Given the description of an element on the screen output the (x, y) to click on. 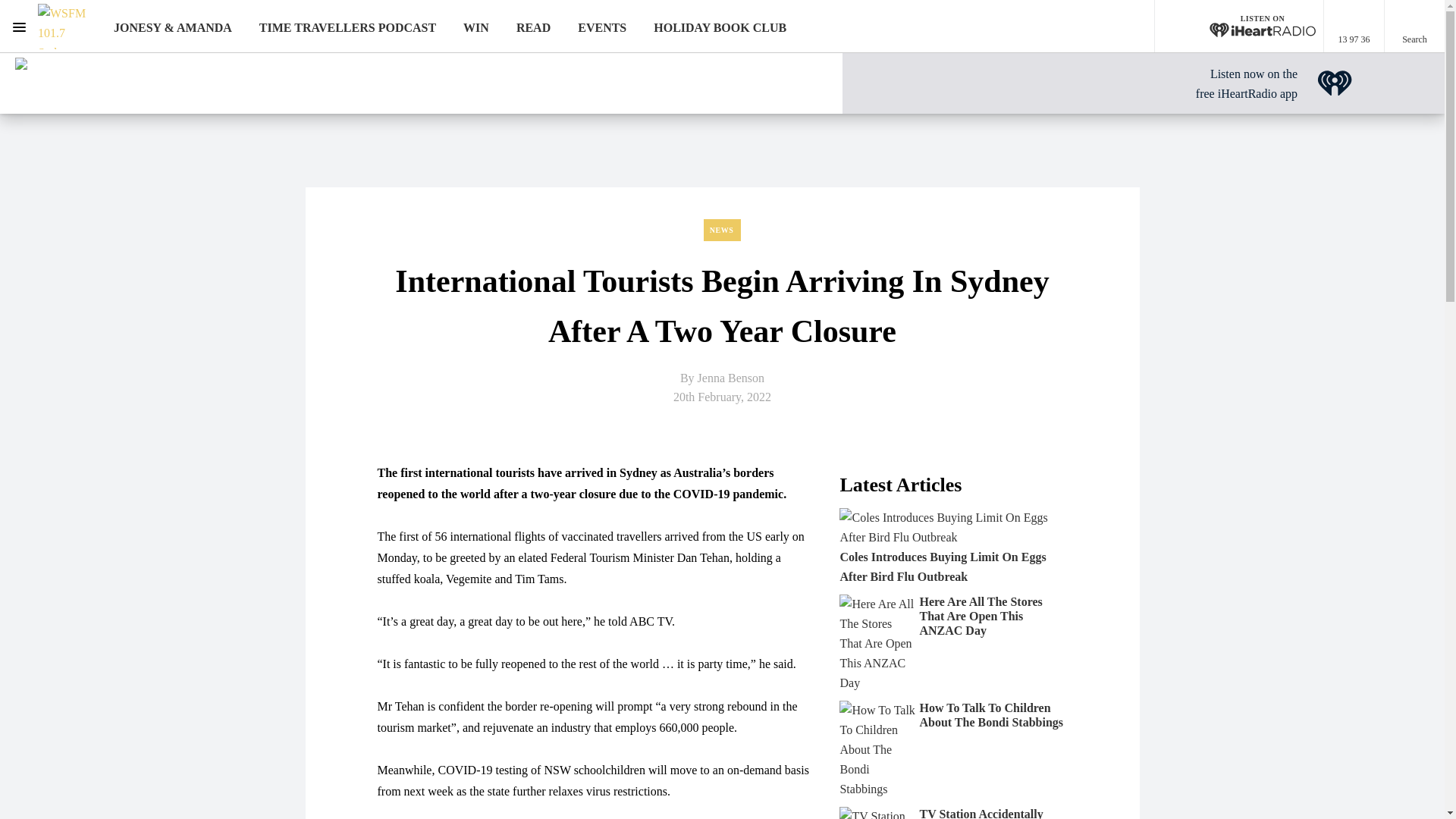
iHeart (1334, 82)
EVENTS (602, 26)
HOLIDAY BOOK CLUB (1246, 83)
TIME TRAVELLERS PODCAST (719, 26)
13 97 36 (347, 26)
LISTEN ON (1353, 26)
iHeart (1238, 26)
ON AIR NOW (1334, 82)
